Given the description of an element on the screen output the (x, y) to click on. 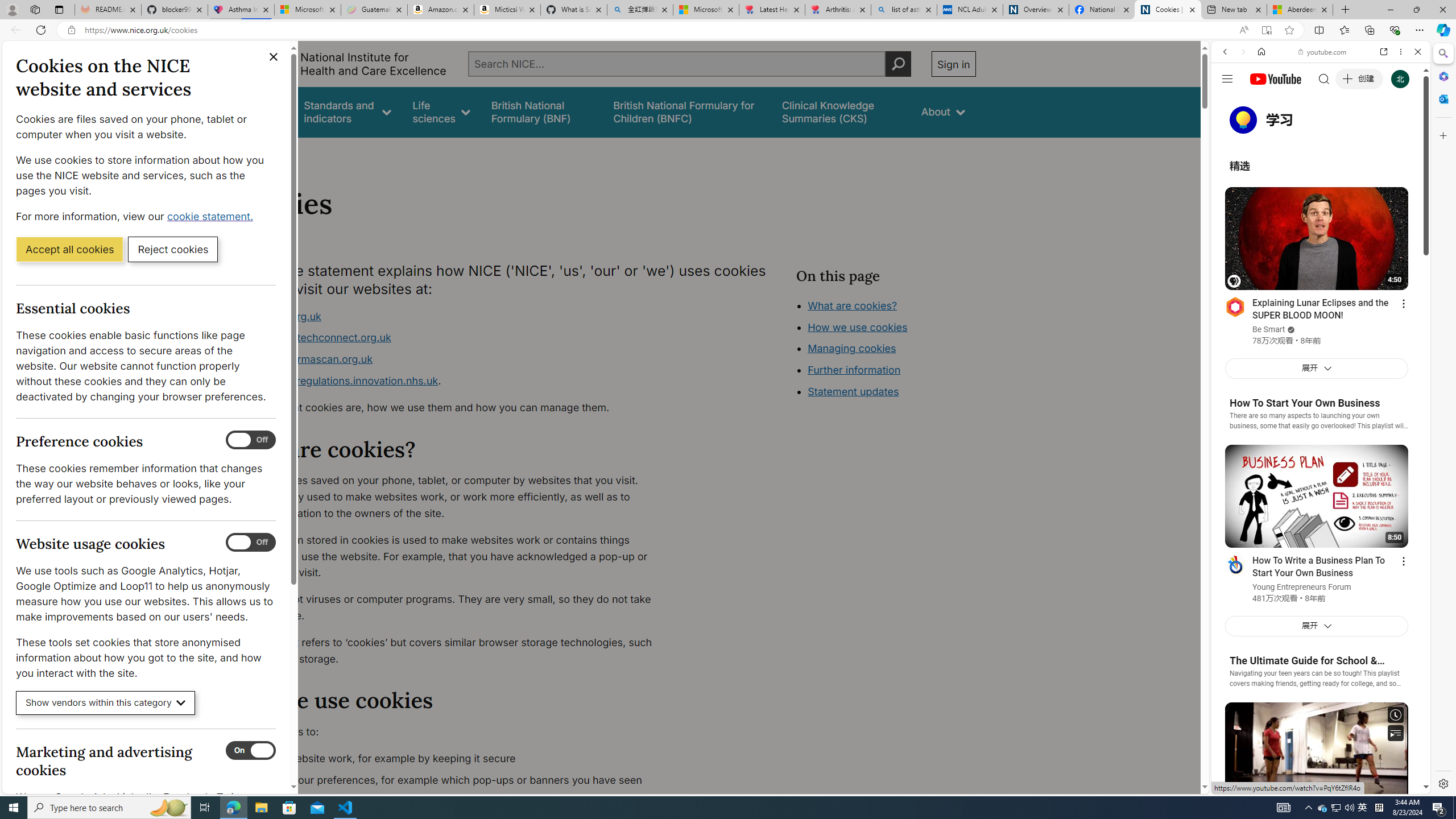
cookie statement. (Opens in a new window) (211, 215)
What are cookies? (852, 305)
Accept all cookies (69, 248)
